Given the description of an element on the screen output the (x, y) to click on. 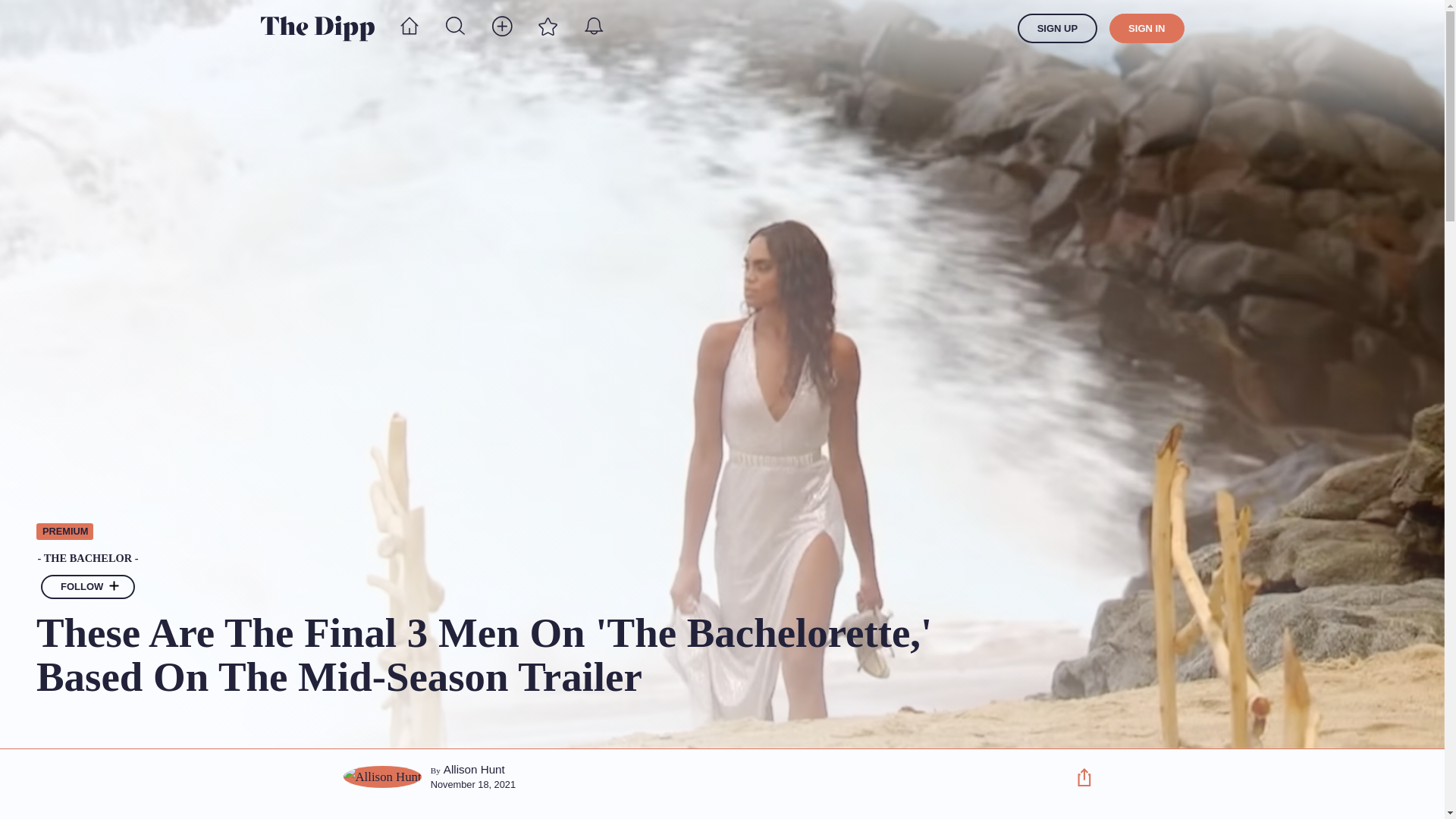
Allison Hunt (474, 768)
Dipp (317, 28)
SIGN IN (1146, 28)
- THE BACHELOR - (542, 559)
SIGN UP (1057, 28)
FOLLOW (87, 586)
